Given the description of an element on the screen output the (x, y) to click on. 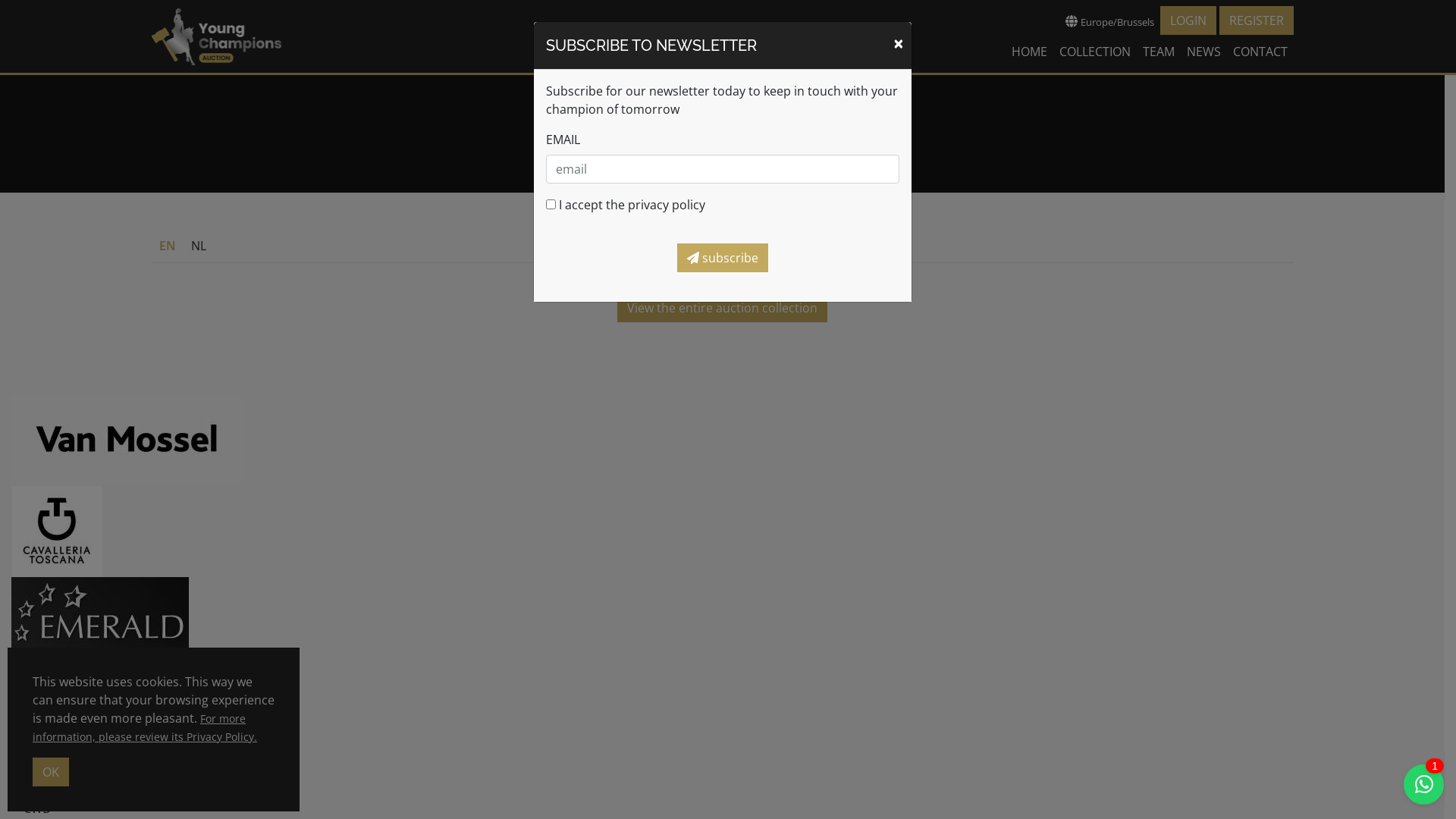
EN Element type: text (167, 245)
subscribe Element type: text (721, 257)
REGISTER Element type: text (1256, 20)
TEAM Element type: text (1157, 51)
OK Element type: text (50, 771)
COLLECTION Element type: text (1093, 51)
HOME Element type: text (1029, 51)
privacy policy Element type: text (666, 204)
NL Element type: text (198, 245)
LOGIN Element type: text (1188, 20)
CONTACT Element type: text (1259, 51)
Europe/Brussels Element type: text (1108, 21)
View the entire auction collection Element type: text (722, 307)
View the entire auction collection Element type: text (722, 159)
For more information, please review its Privacy Policy. Element type: text (144, 727)
NEWS Element type: text (1202, 51)
